Given the description of an element on the screen output the (x, y) to click on. 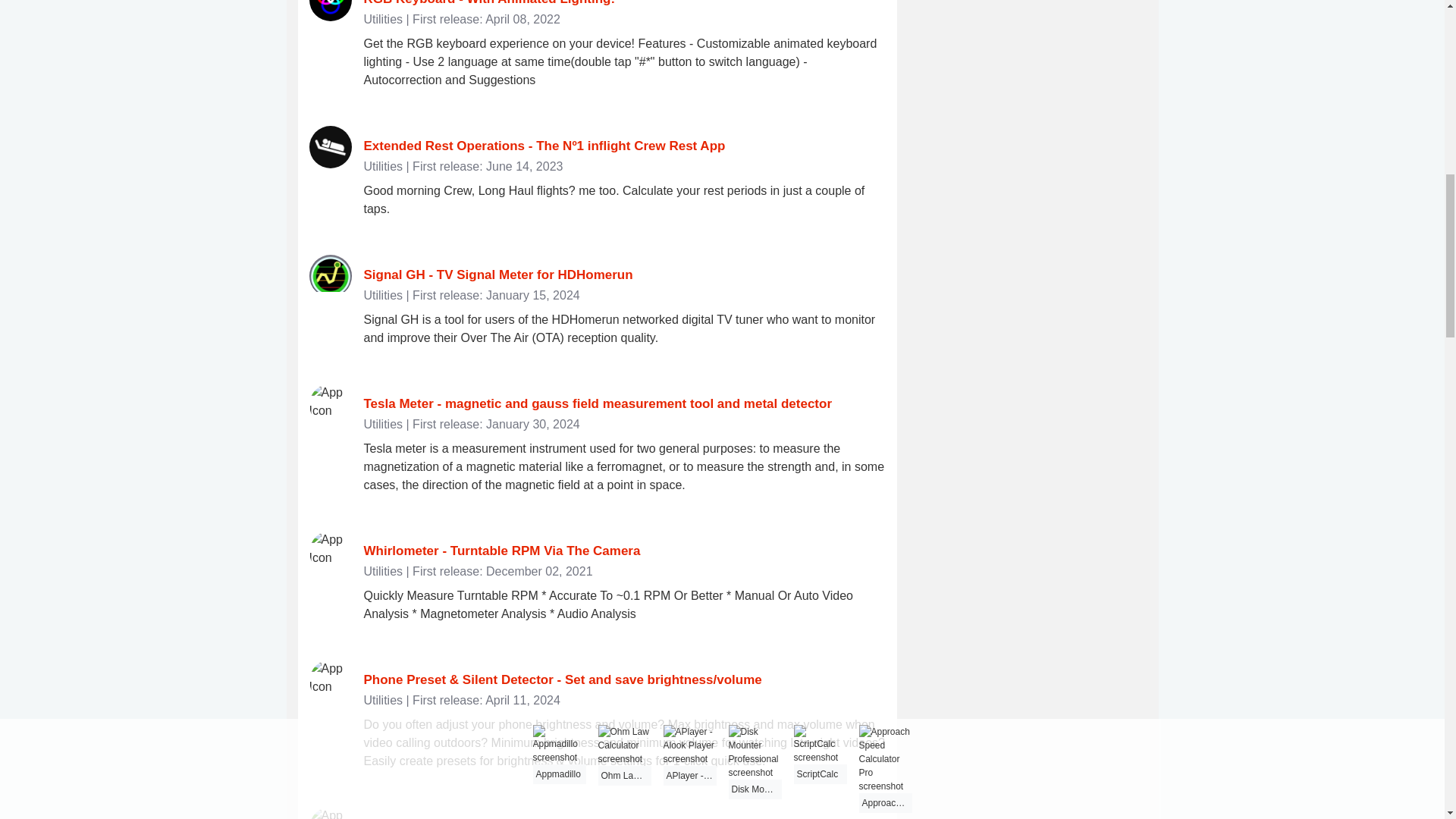
Whirlometer - Turntable RPM Via The Camera (502, 550)
Signal GH - TV Signal Meter for HDHomerun (498, 274)
